Given the description of an element on the screen output the (x, y) to click on. 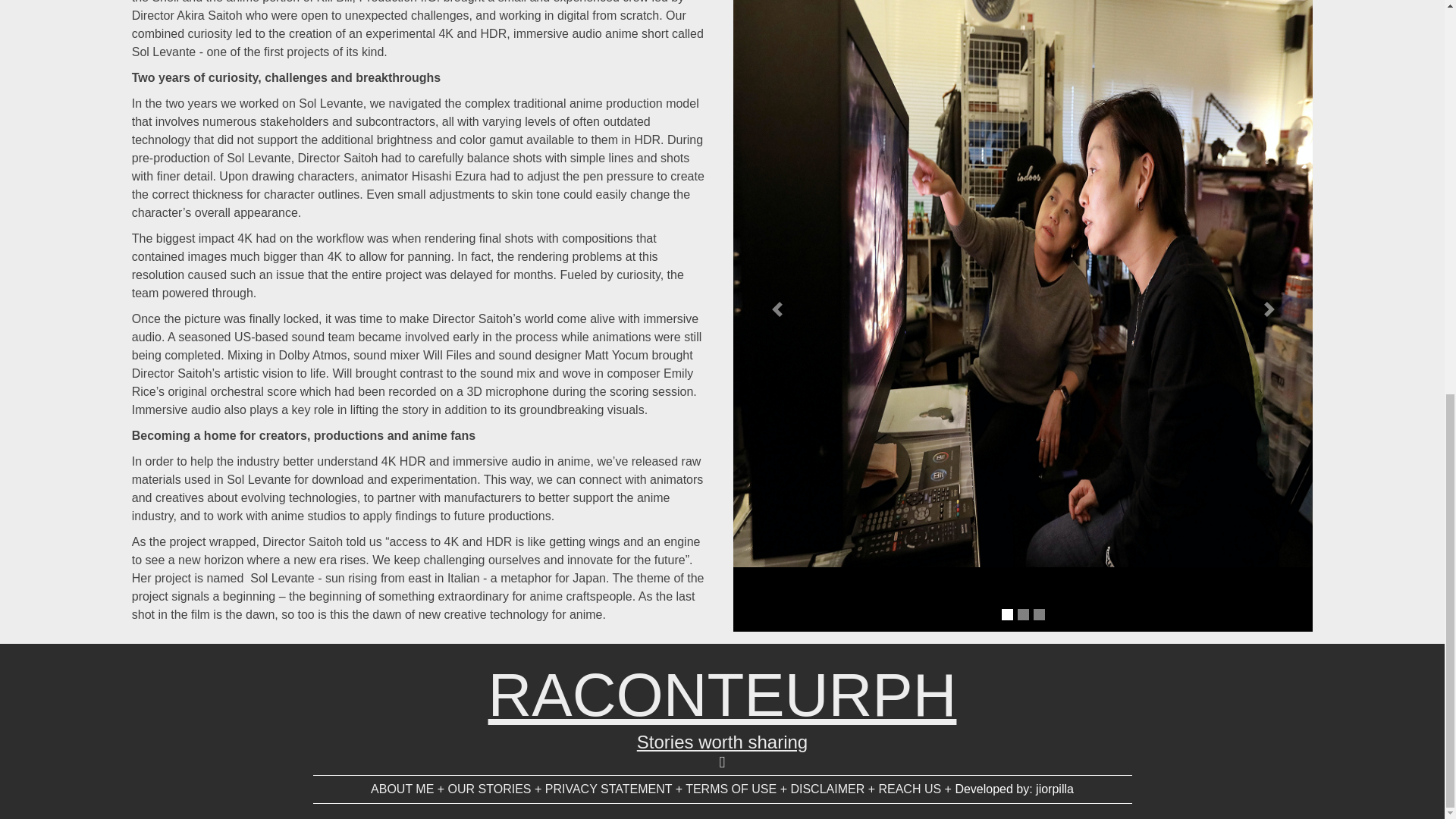
REACH US (908, 788)
ABOUT ME (402, 788)
TERMS OF USE (730, 788)
OUR STORIES (489, 788)
DISCLAIMER (827, 788)
PRIVACY STATEMENT (607, 788)
Developed by: jiorpilla (1014, 788)
